Given the description of an element on the screen output the (x, y) to click on. 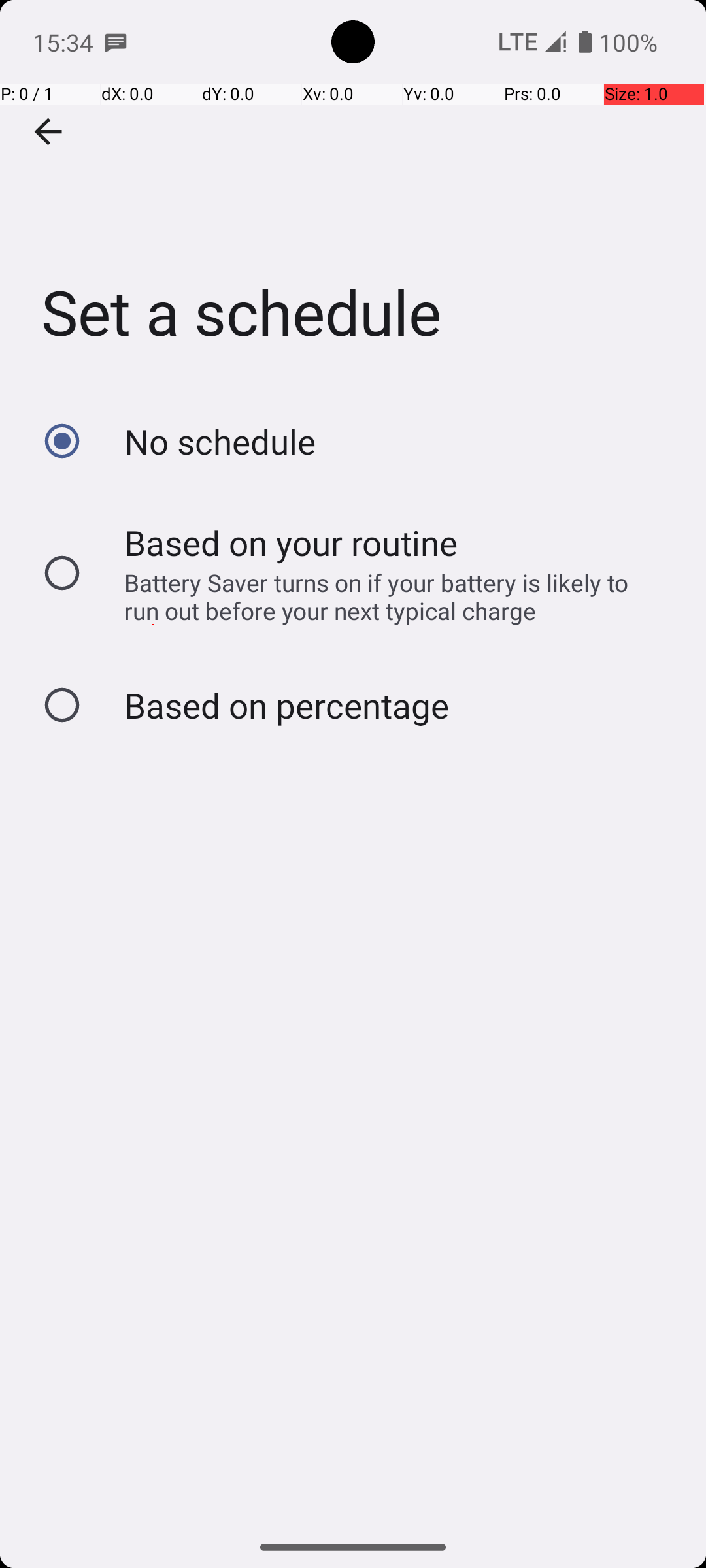
Based on your routine Element type: android.widget.TextView (291, 542)
Battery Saver turns on if your battery is likely to run out before your next typical charge Element type: android.widget.TextView (387, 596)
Based on percentage Element type: android.widget.TextView (286, 705)
